Given the description of an element on the screen output the (x, y) to click on. 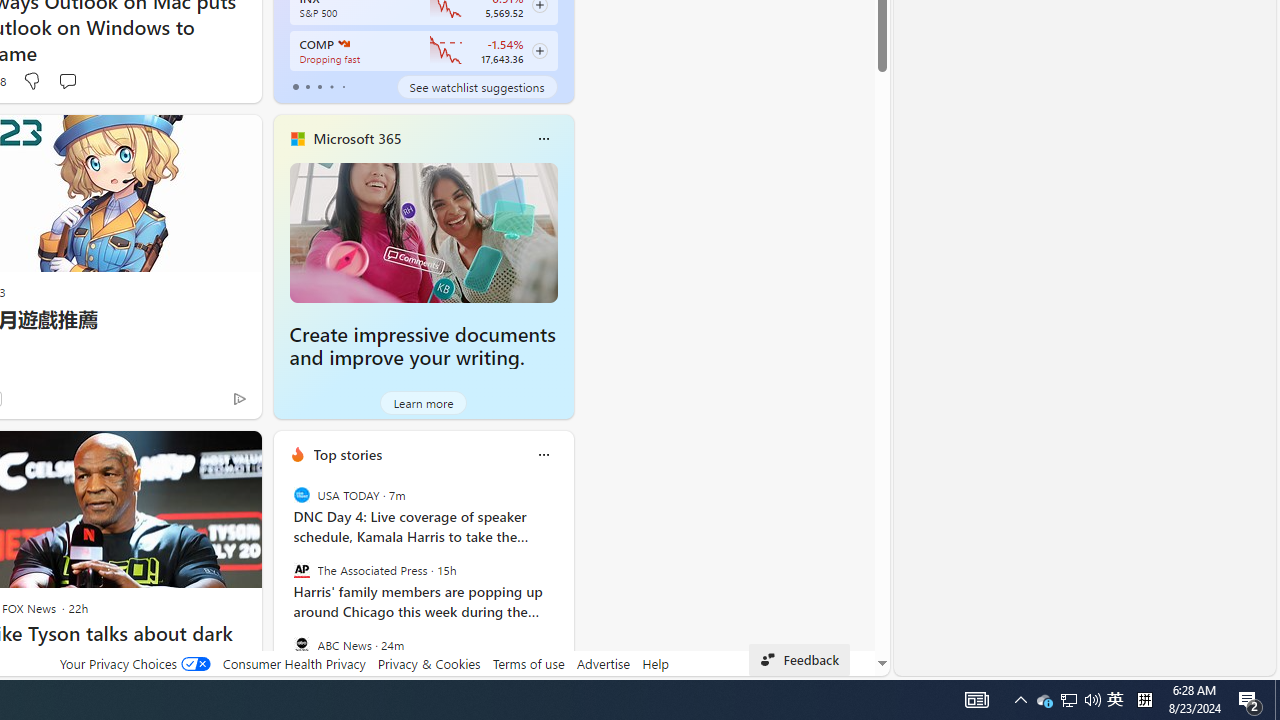
Advertise (603, 663)
Top stories (347, 454)
tab-4 (342, 86)
Terms of use (527, 663)
Create impressive documents and improve your writing. (422, 346)
See more (237, 454)
Dislike (30, 80)
Ad Choice (238, 398)
Learn more (423, 402)
Class: icon-img (543, 454)
next (563, 583)
Microsoft 365 (357, 139)
The Associated Press (301, 570)
